Given the description of an element on the screen output the (x, y) to click on. 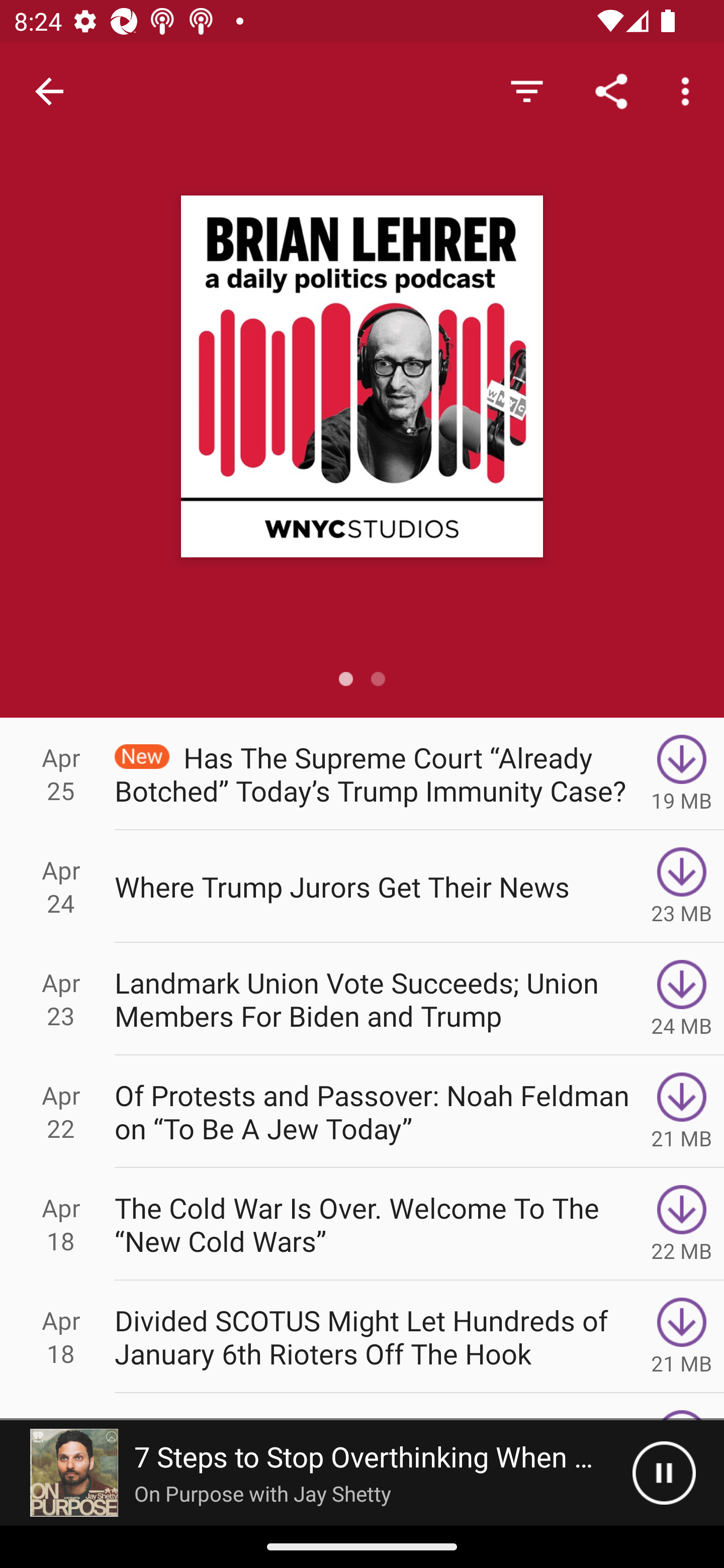
Navigate up (49, 91)
Hide Episodes (526, 90)
Share Link (611, 90)
More options (688, 90)
Download 19 MB (681, 773)
Download 23 MB (681, 885)
Download 24 MB (681, 998)
Download 21 MB (681, 1111)
Download 22 MB (681, 1224)
Download 21 MB (681, 1336)
Pause (663, 1472)
